Given the description of an element on the screen output the (x, y) to click on. 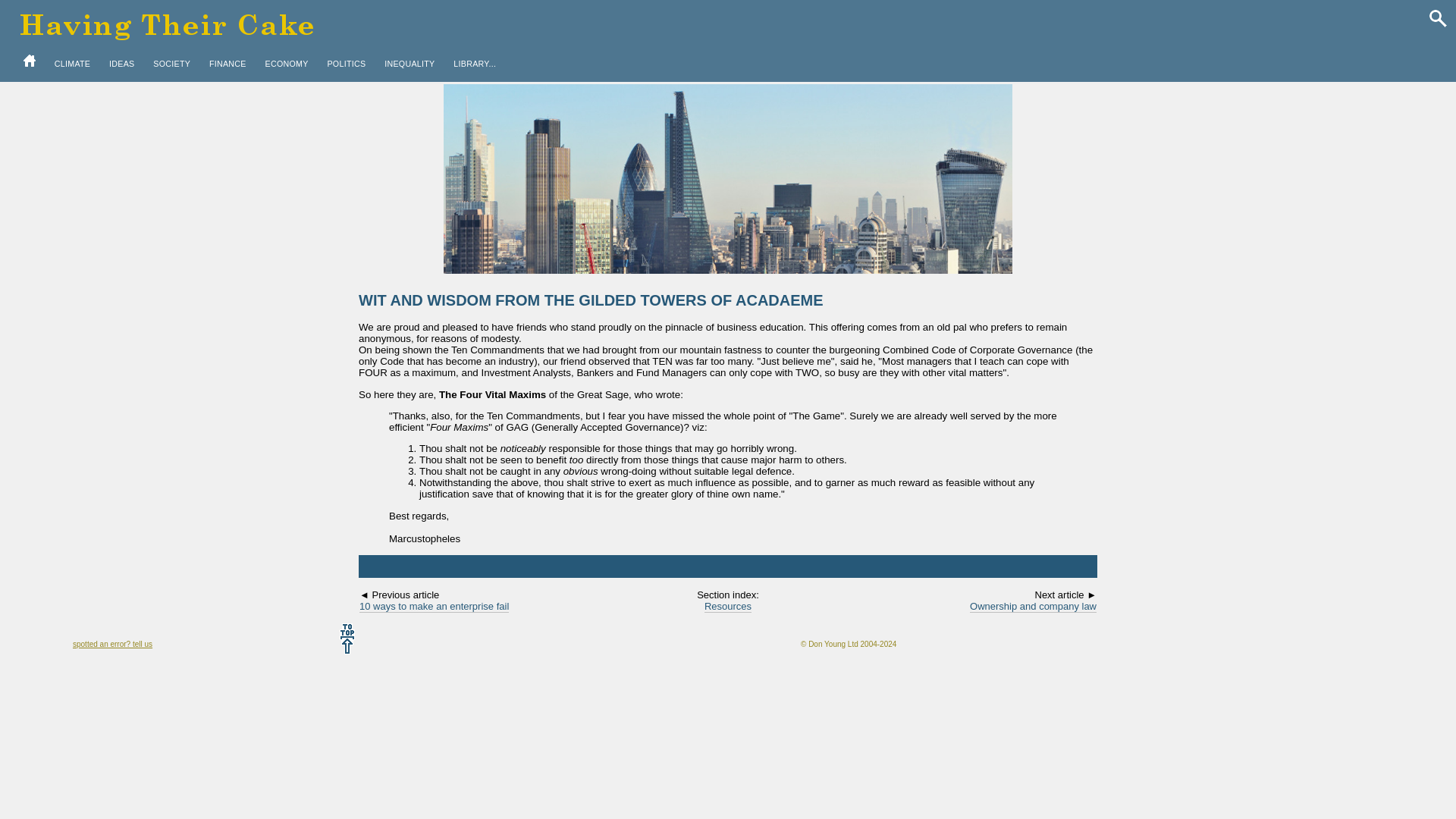
INEQUALITY (409, 63)
IDEAS (121, 63)
FINANCE (227, 63)
POLITICS (345, 63)
ECONOMY (286, 63)
LIBRARY... (474, 63)
Home (28, 60)
CLIMATE (72, 63)
SOCIETY (171, 63)
